Given the description of an element on the screen output the (x, y) to click on. 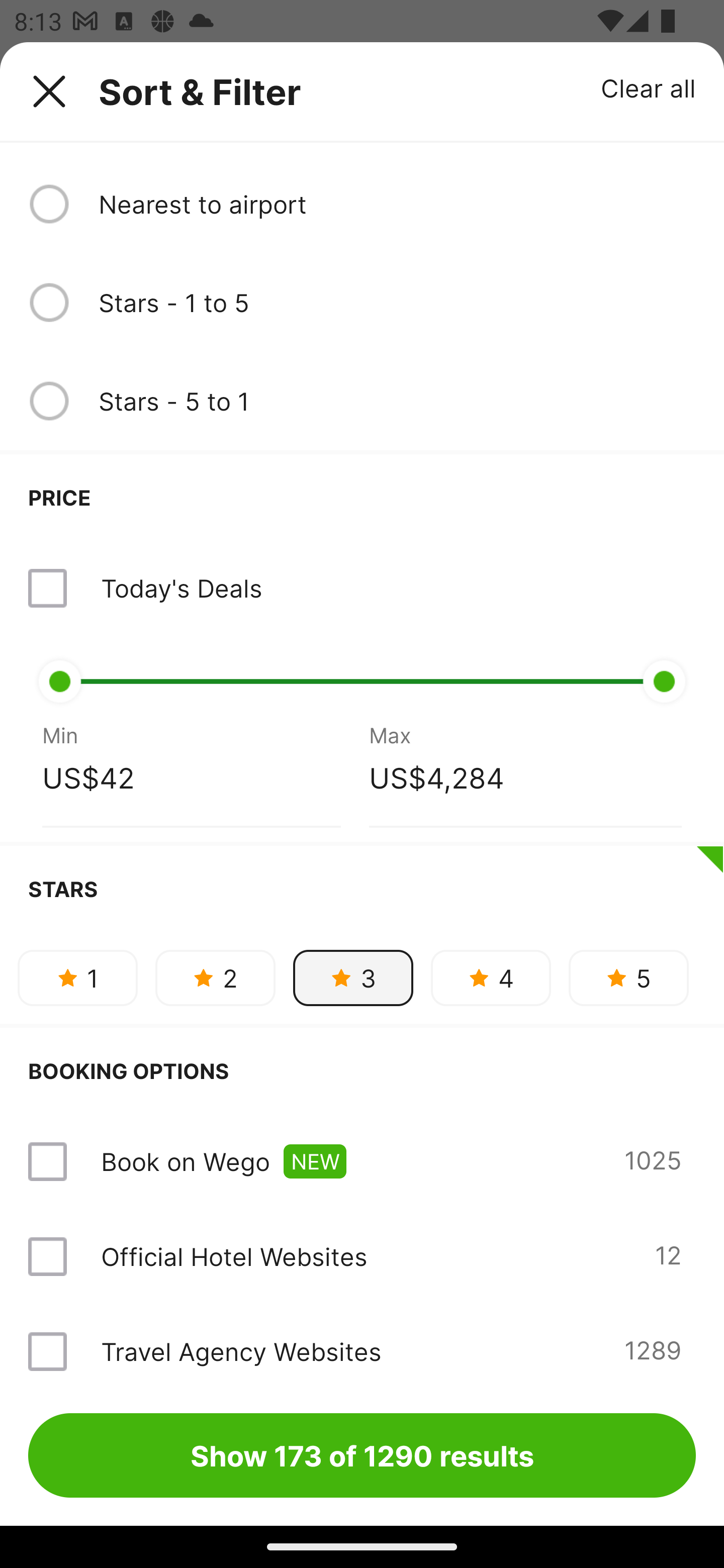
Clear all (648, 87)
Nearest to airport (396, 203)
Stars - 1 to 5 (396, 302)
Stars - 5 to 1 (396, 401)
Today's Deals (362, 587)
Today's Deals (181, 587)
1 (77, 978)
2 (214, 978)
3 (352, 978)
4 (491, 978)
5 (627, 978)
Book on Wego NEW 1025 (362, 1161)
Book on Wego (184, 1161)
Official Hotel Websites 12 (362, 1256)
Official Hotel Websites (233, 1255)
Travel Agency Websites 1289 (362, 1344)
Travel Agency Websites (240, 1351)
Show 173 of 1290 results (361, 1454)
